Given the description of an element on the screen output the (x, y) to click on. 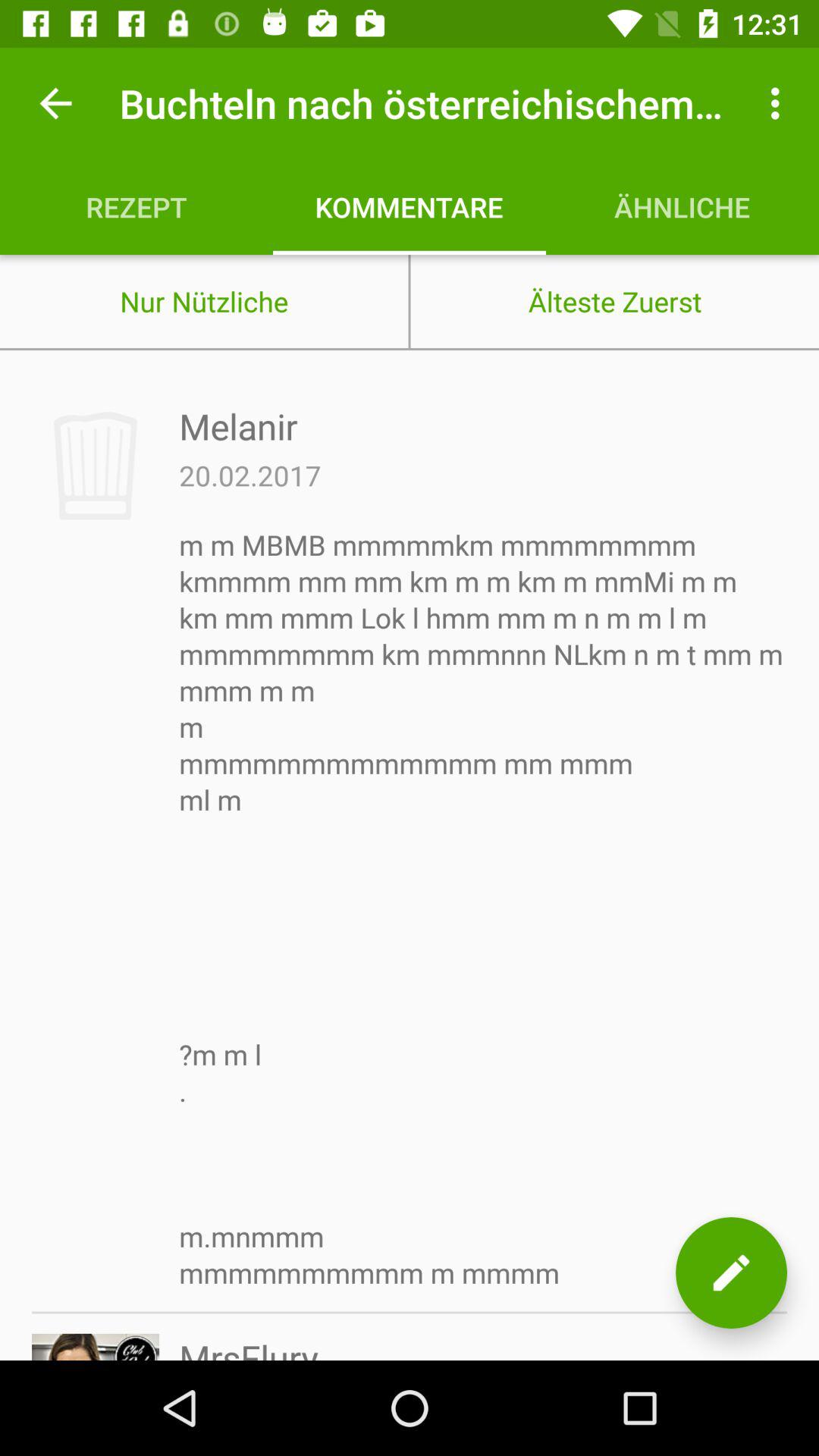
launch icon below m m mbmb icon (248, 1346)
